Given the description of an element on the screen output the (x, y) to click on. 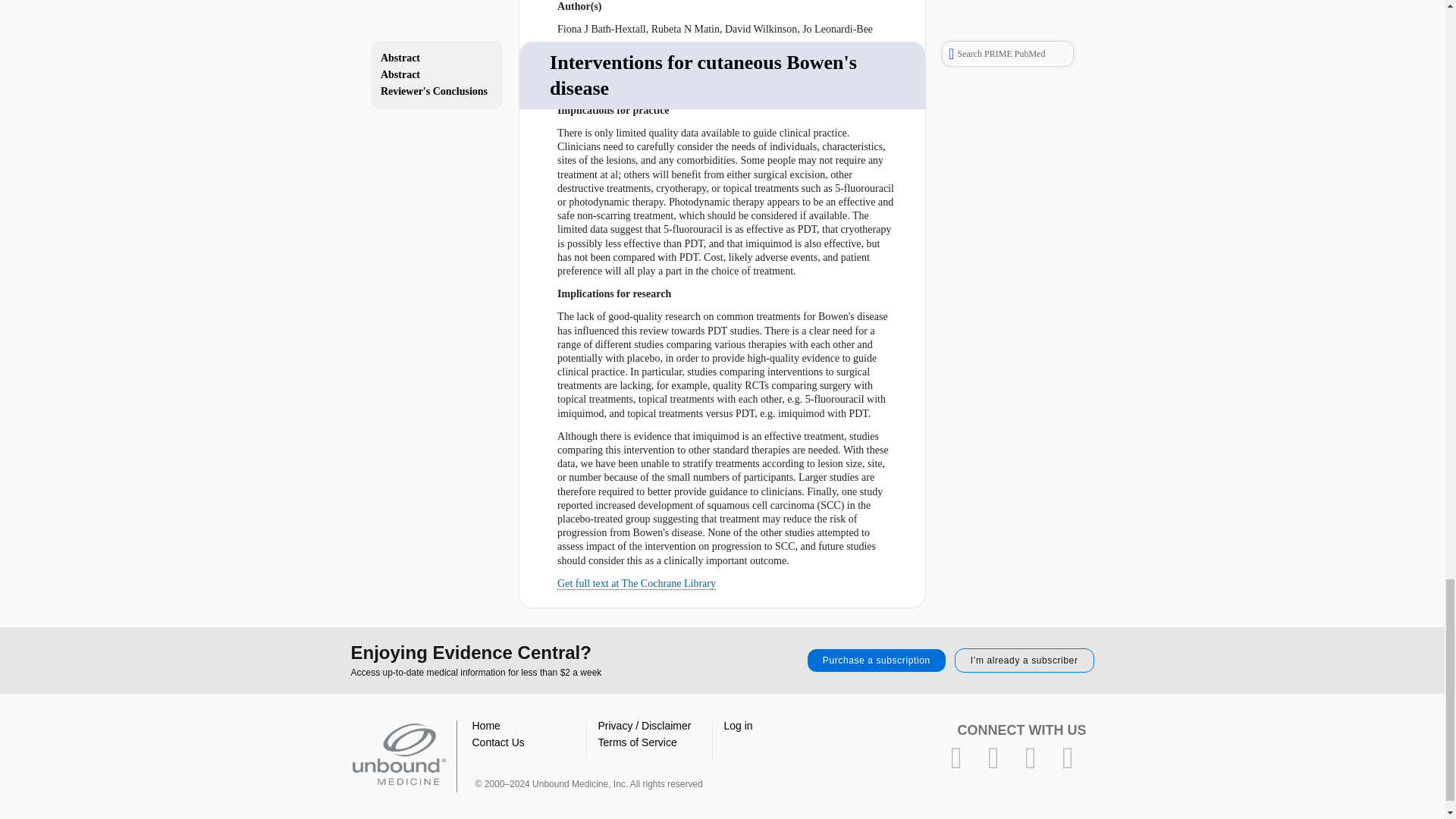
Get full text at The Cochrane Library (636, 583)
